Given the description of an element on the screen output the (x, y) to click on. 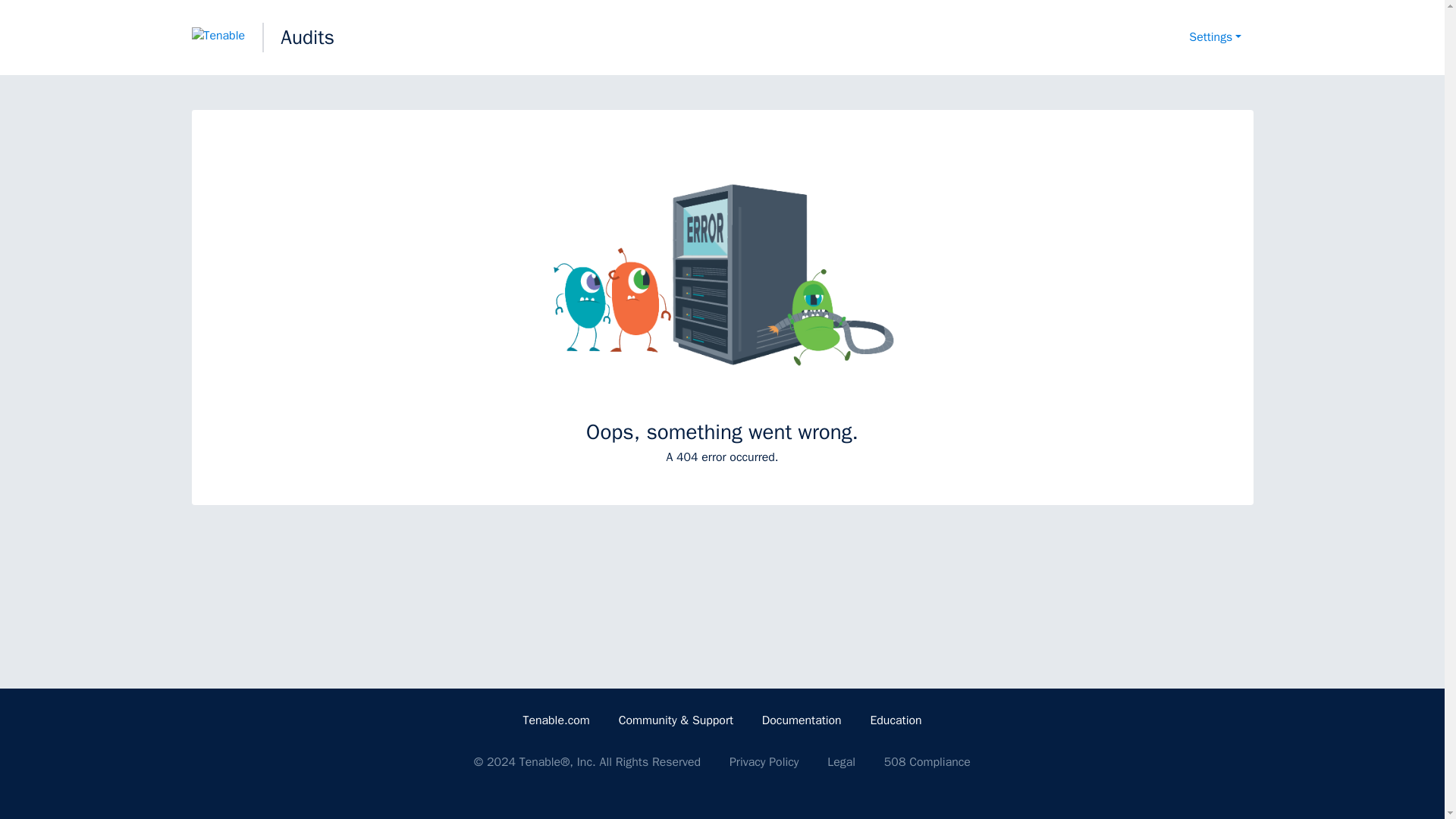
Audits (307, 37)
Settings (1214, 37)
